Given the description of an element on the screen output the (x, y) to click on. 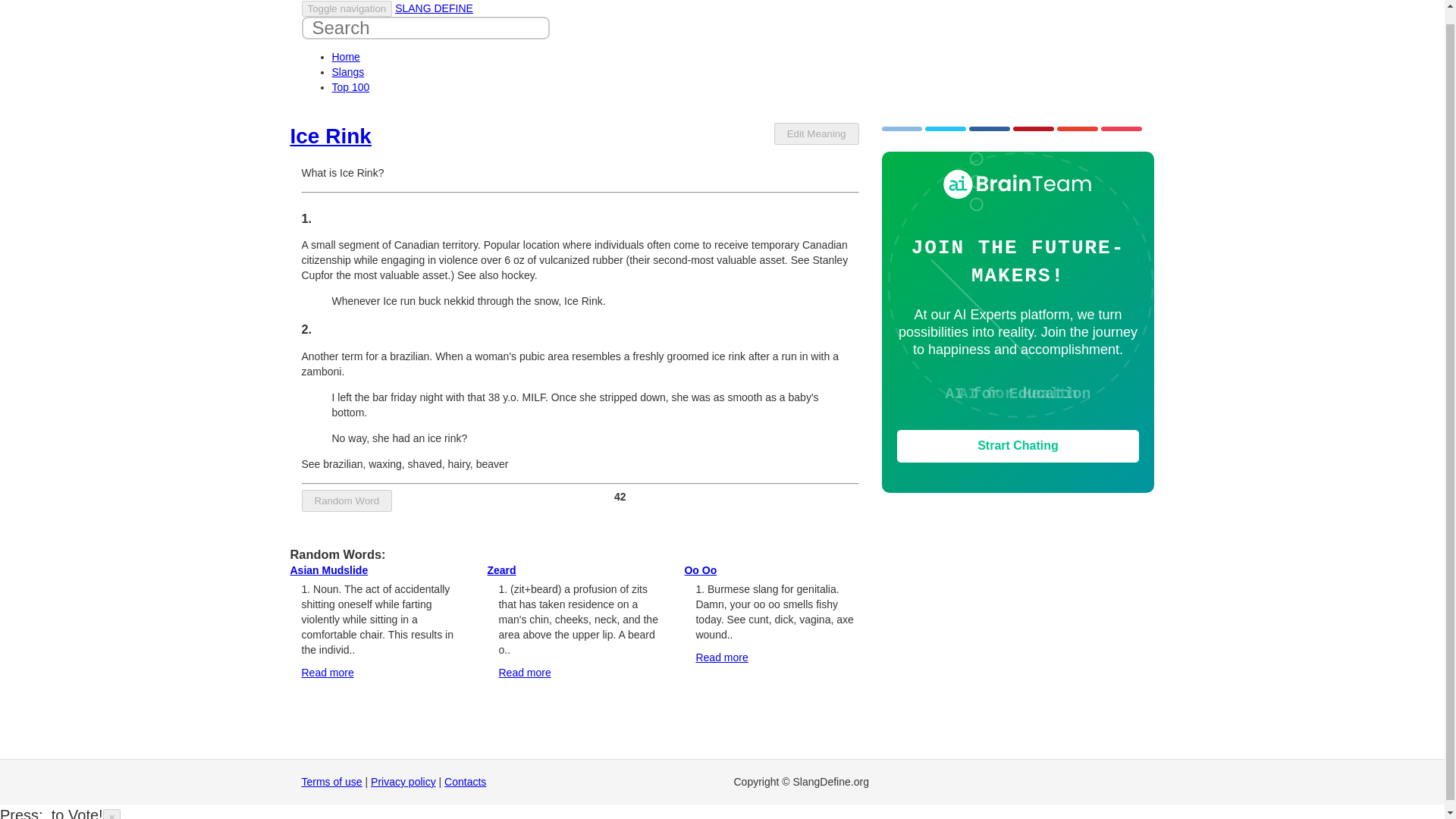
Privacy policy (403, 781)
Terms of use (331, 781)
Read more (721, 657)
SLANG DEFINE (433, 8)
Zeard (500, 570)
Strart Chating (1017, 445)
Home (345, 56)
Edit Meaning (816, 133)
Slangs (348, 71)
